Given the description of an element on the screen output the (x, y) to click on. 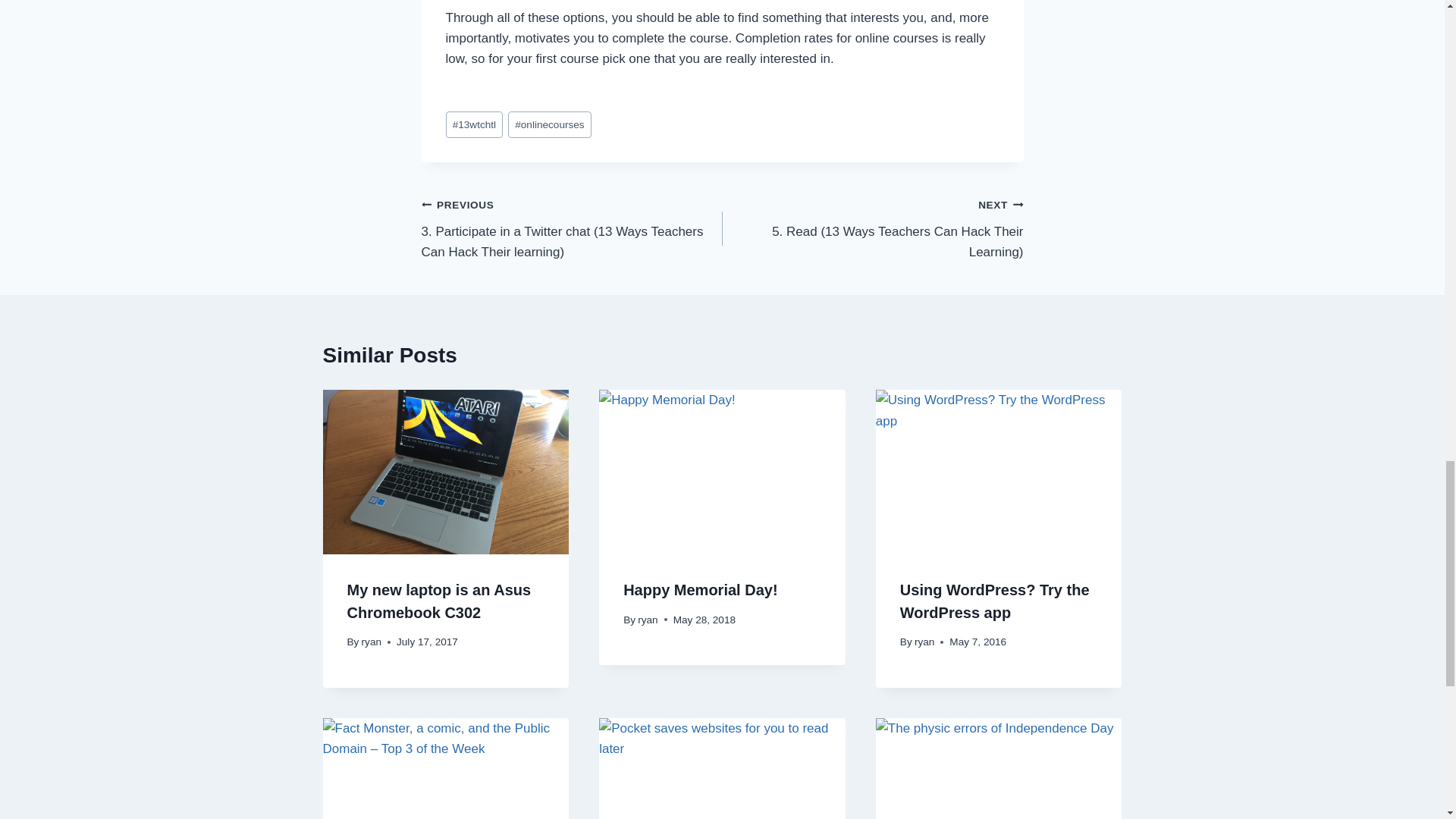
My new laptop is an Asus Chromebook C302 (439, 600)
13wtchtl (474, 124)
ryan (371, 641)
Happy Memorial Day! (700, 589)
onlinecourses (549, 124)
ryan (647, 619)
